Given the description of an element on the screen output the (x, y) to click on. 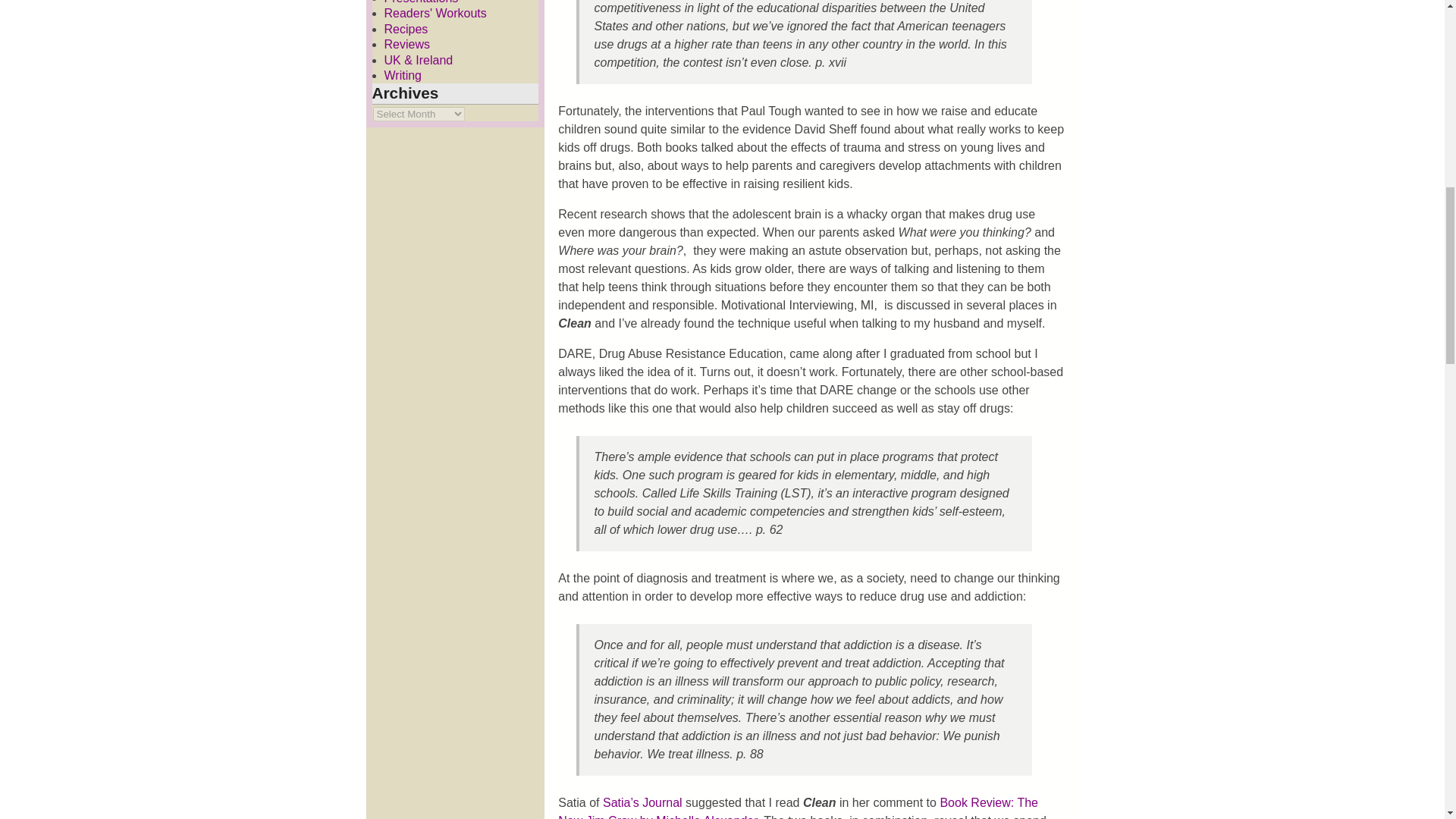
Book Review: The New Jim Crow by Michelle Alexander (797, 807)
